Given the description of an element on the screen output the (x, y) to click on. 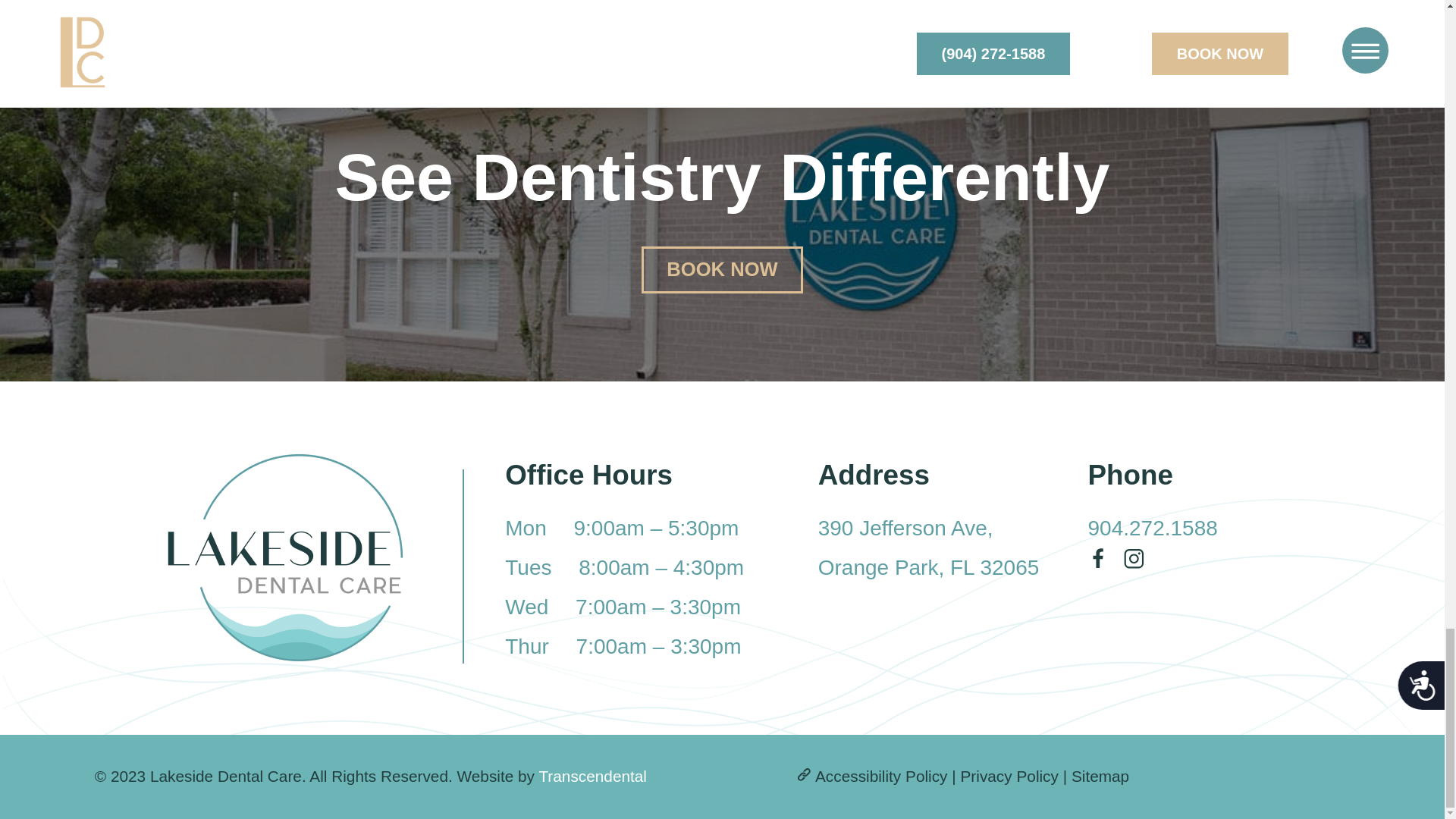
Accessibility Policy (881, 775)
BOOK NOW (722, 269)
dental care (565, 2)
Privacy Policy (1008, 775)
Sitemap (1100, 775)
Transcendental (928, 547)
904.272.1588 (592, 775)
